Given the description of an element on the screen output the (x, y) to click on. 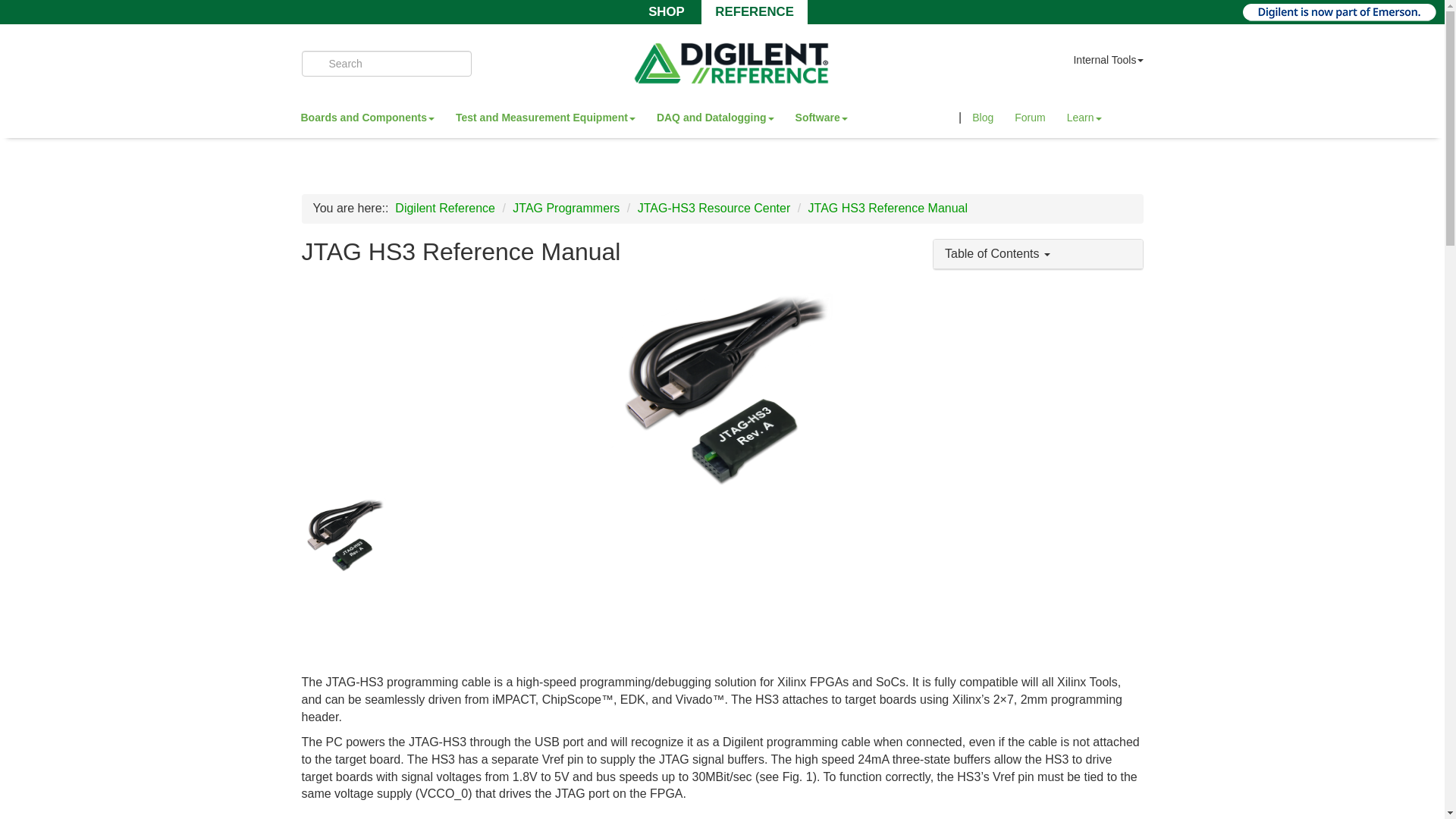
start (444, 207)
Internal Tools (1107, 63)
REFERENCE (753, 11)
SHOP (665, 11)
programmers:jtag-hs3:start (713, 207)
Boards and Components (366, 120)
programmers:start (566, 207)
